Given the description of an element on the screen output the (x, y) to click on. 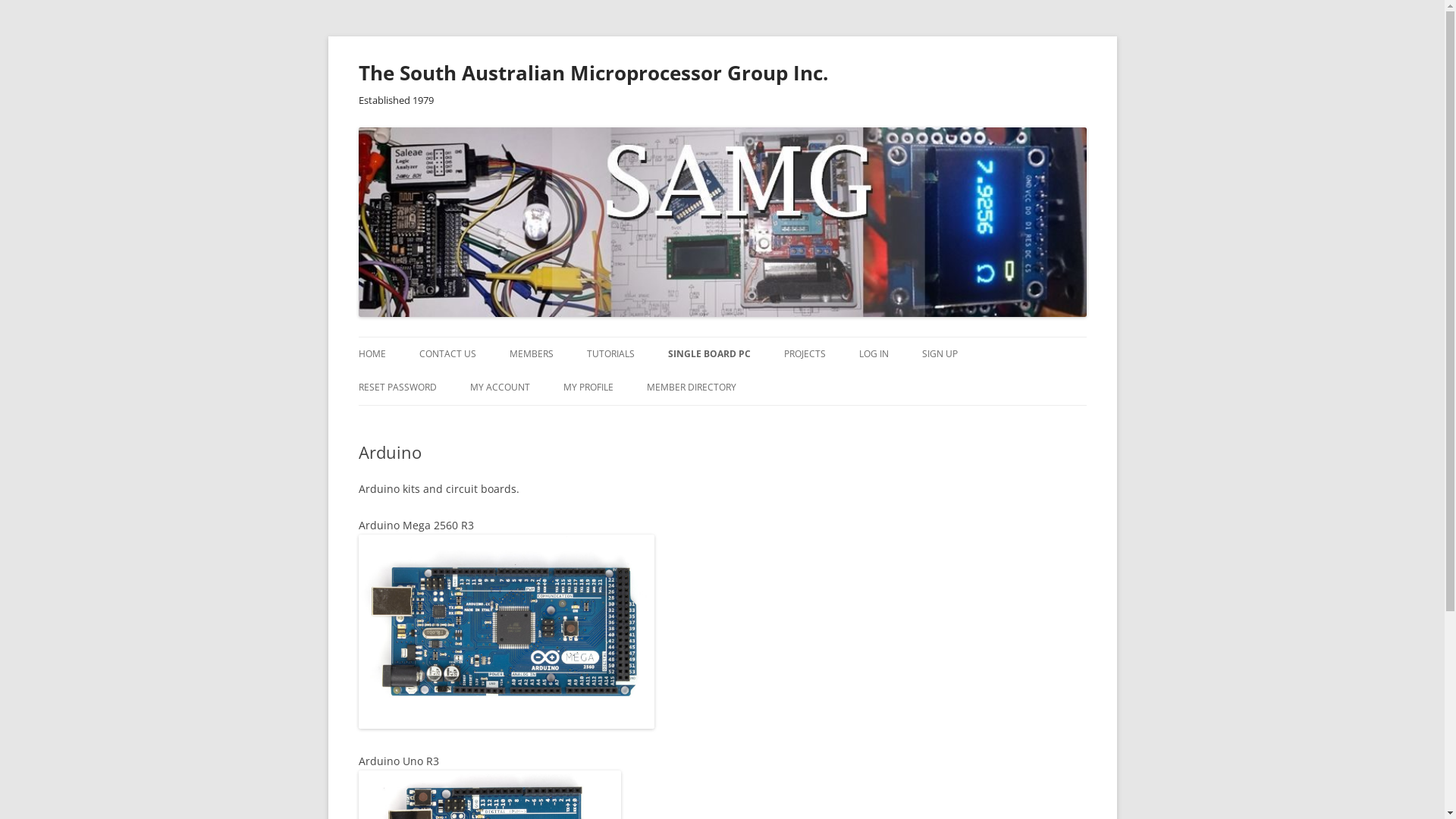
PROJECTS Element type: text (804, 353)
ESP8266 & ESP32 WI-FI DEVICES Element type: text (743, 385)
MEMBERS Element type: text (531, 353)
LOG IN Element type: text (873, 353)
HOME Element type: text (371, 353)
CONTACT US Element type: text (446, 353)
The South Australian Microprocessor Group Inc. Element type: text (592, 72)
RESET PASSWORD Element type: text (396, 387)
MY ACCOUNT Element type: text (500, 387)
SIGN UP Element type: text (939, 353)
MEMBER DIRECTORY Element type: text (690, 387)
MY PROFILE Element type: text (587, 387)
Skip to content Element type: text (721, 336)
PINE64 DRIVEN FROM PC Element type: text (662, 385)
TUTORIALS Element type: text (610, 353)
SINGLE BOARD PC Element type: text (708, 353)
MEMBERSHIP Element type: text (585, 385)
